Given the description of an element on the screen output the (x, y) to click on. 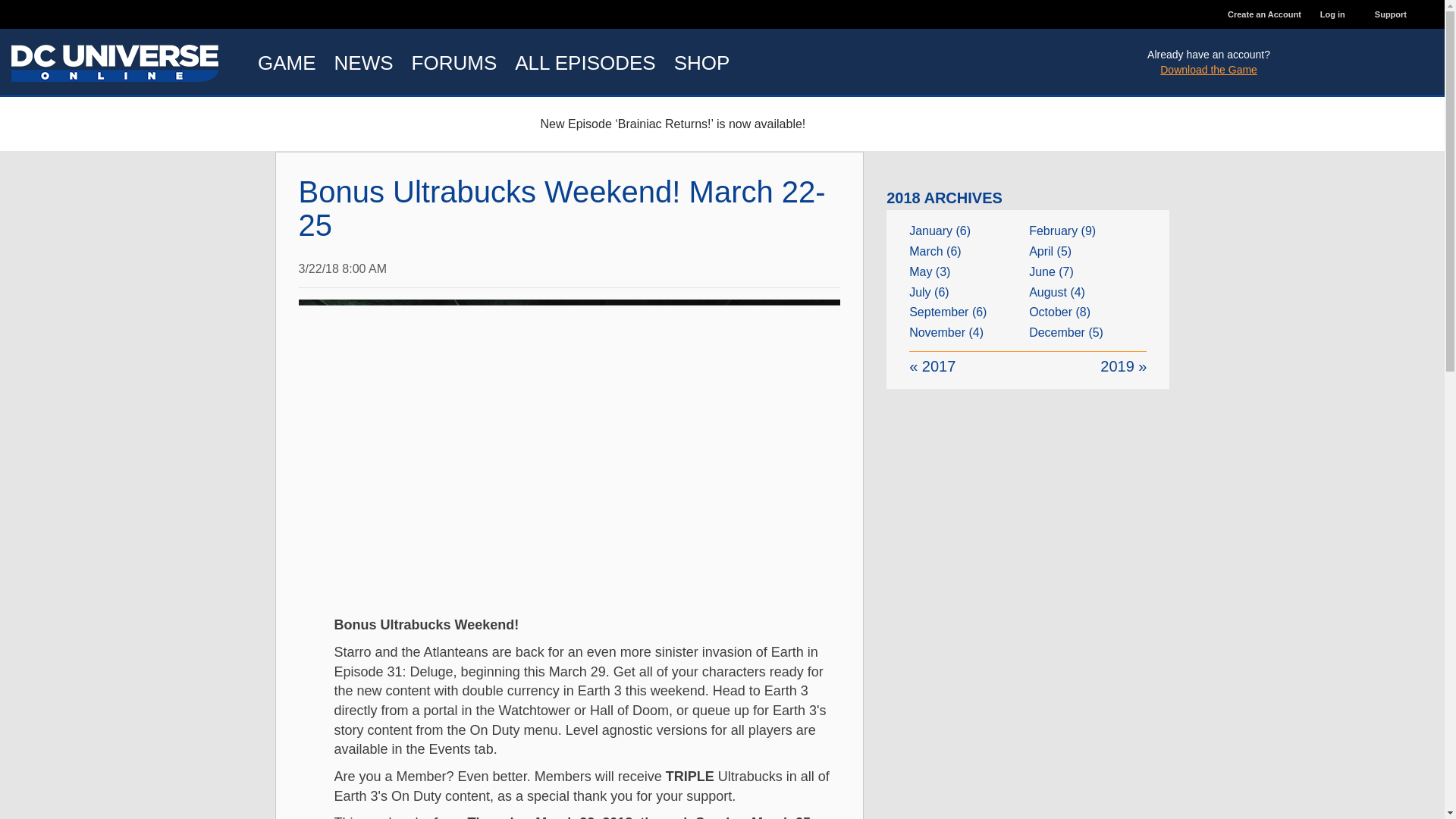
ALL EPISODES (584, 62)
Download the Game (1208, 69)
GAME (286, 62)
Log in (1337, 14)
SHOP (702, 62)
Support (1390, 14)
FORUMS (454, 62)
NEWS (363, 62)
Create an Account (1264, 14)
